Given the description of an element on the screen output the (x, y) to click on. 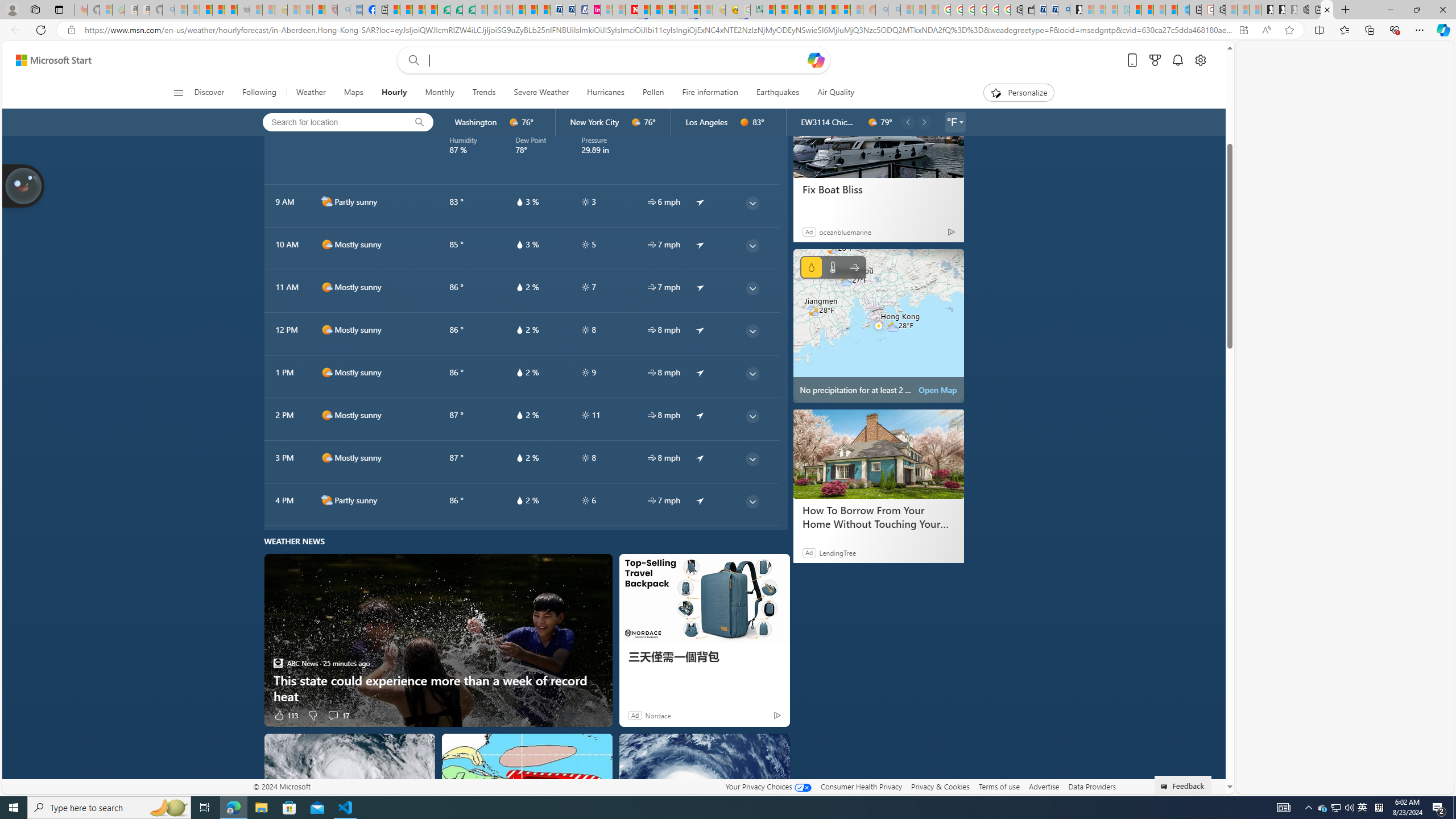
Precipitation (810, 267)
Monthly (439, 92)
locationBar/search (418, 121)
Wind (854, 267)
New Report Confirms 2023 Was Record Hot | Watch (230, 9)
Student Loan Update: Forgiveness Program Ends This Month (806, 9)
